Given the description of an element on the screen output the (x, y) to click on. 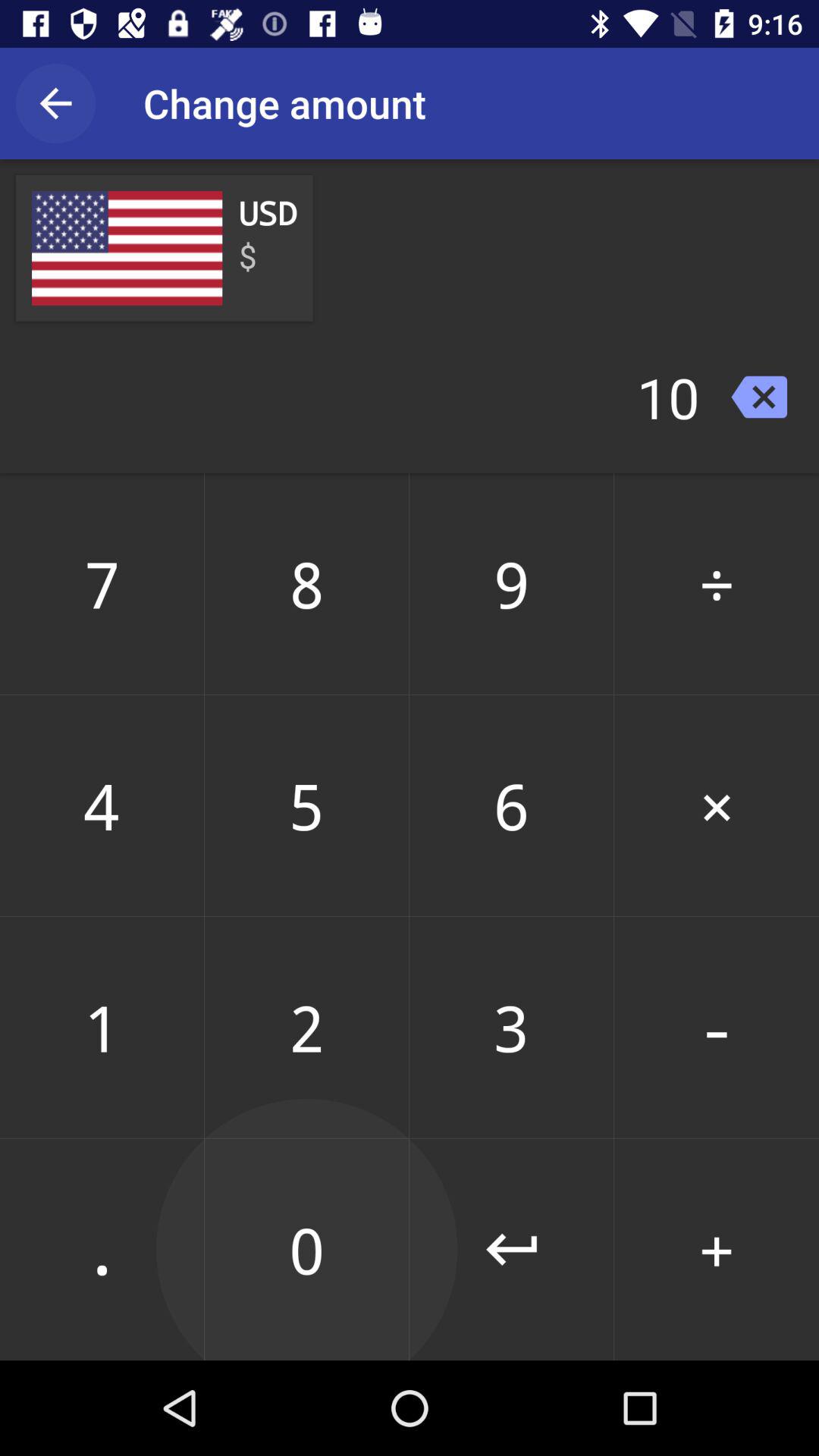
open the . icon (102, 1249)
